Given the description of an element on the screen output the (x, y) to click on. 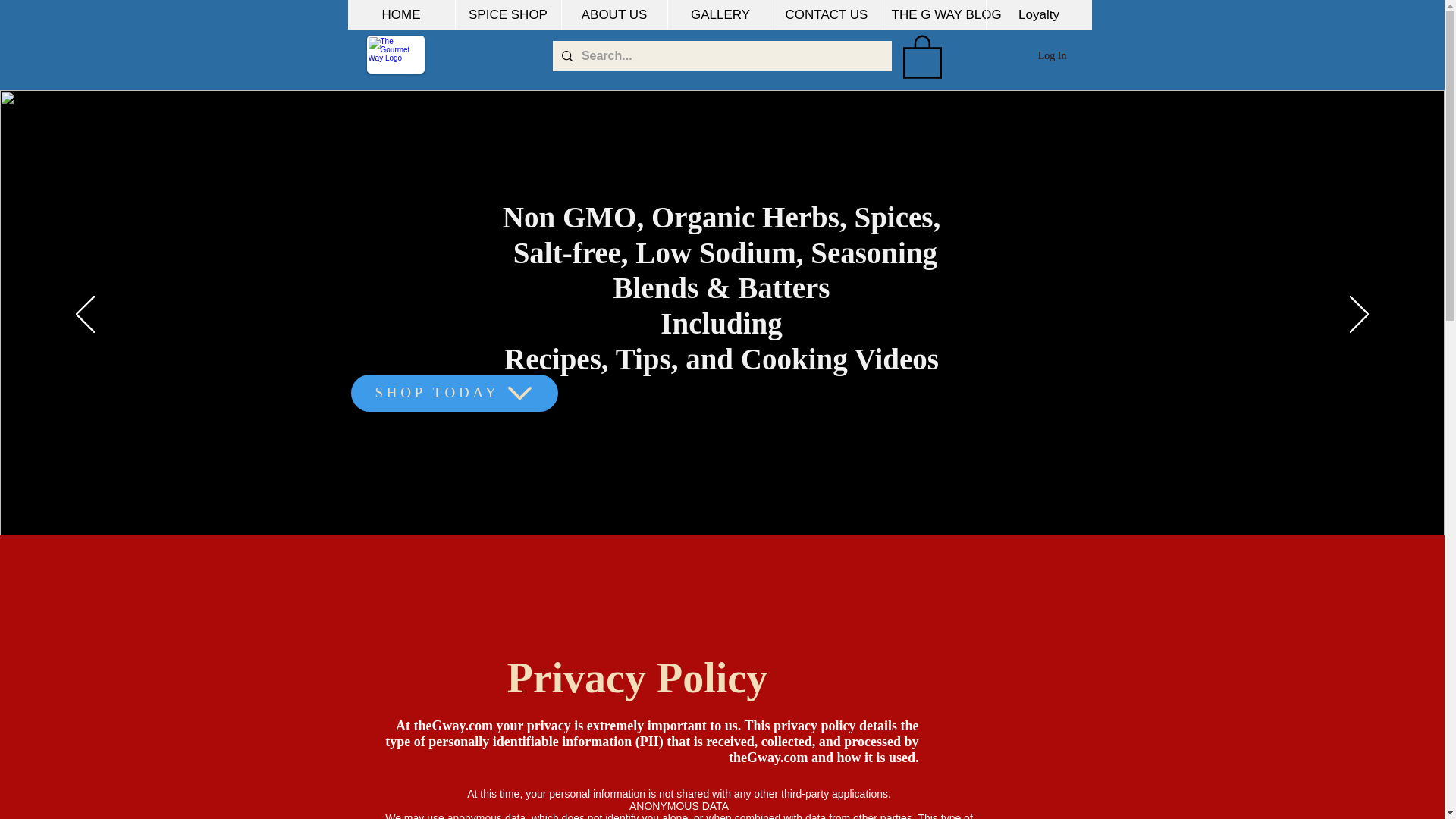
Log In (1052, 56)
SHOP TODAY (453, 392)
GALLERY (719, 14)
ABOUT US (613, 14)
HOME (400, 14)
Loyalty (1038, 14)
CONTACT US (826, 14)
THE G WAY BLOG (932, 14)
SPICE SHOP (507, 14)
